Given the description of an element on the screen output the (x, y) to click on. 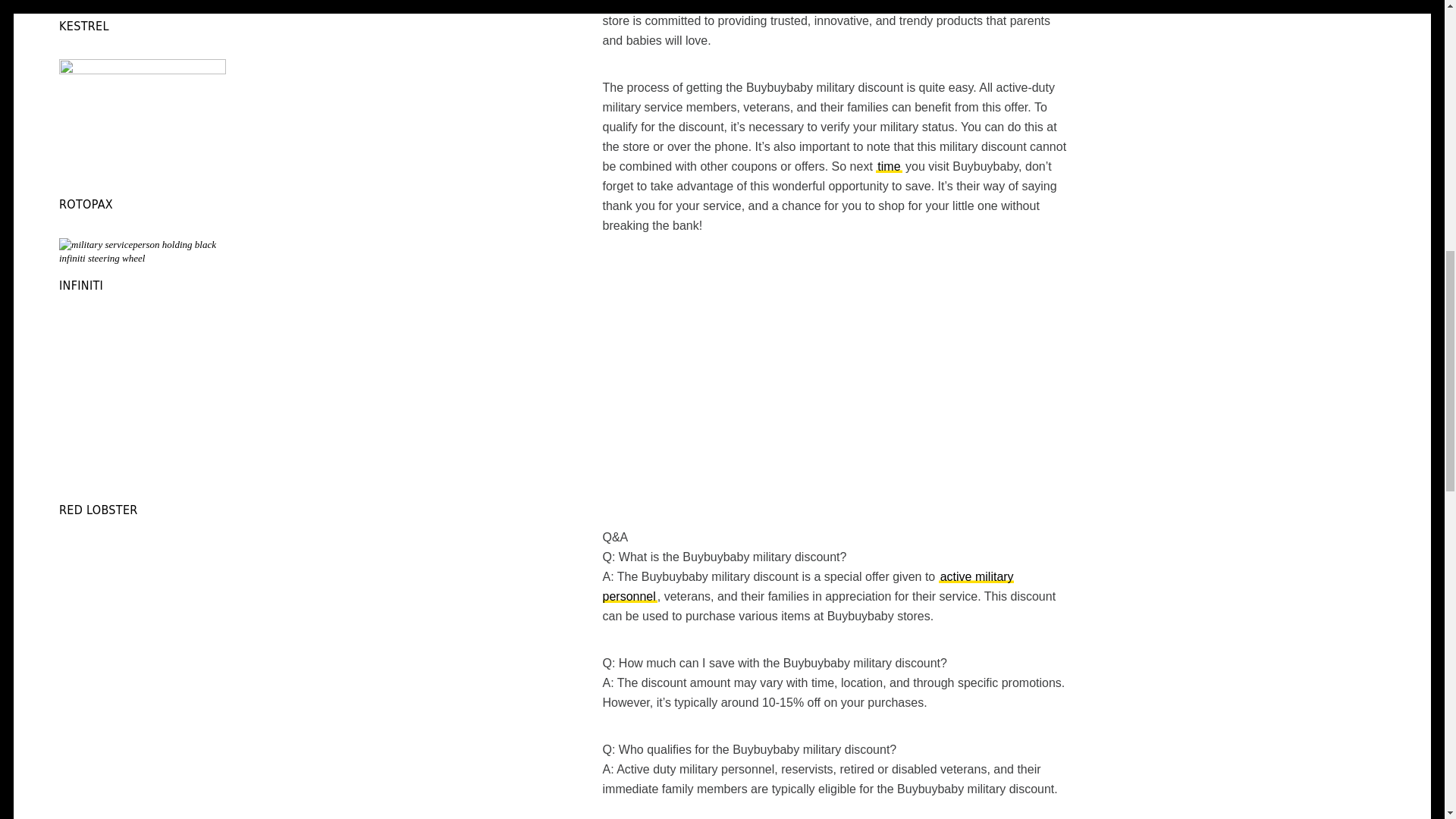
ROTOPAX (86, 204)
Sig Sauer (807, 586)
active military personnel (807, 586)
INFINITI (81, 285)
KESTREL (84, 25)
time (888, 165)
